Given the description of an element on the screen output the (x, y) to click on. 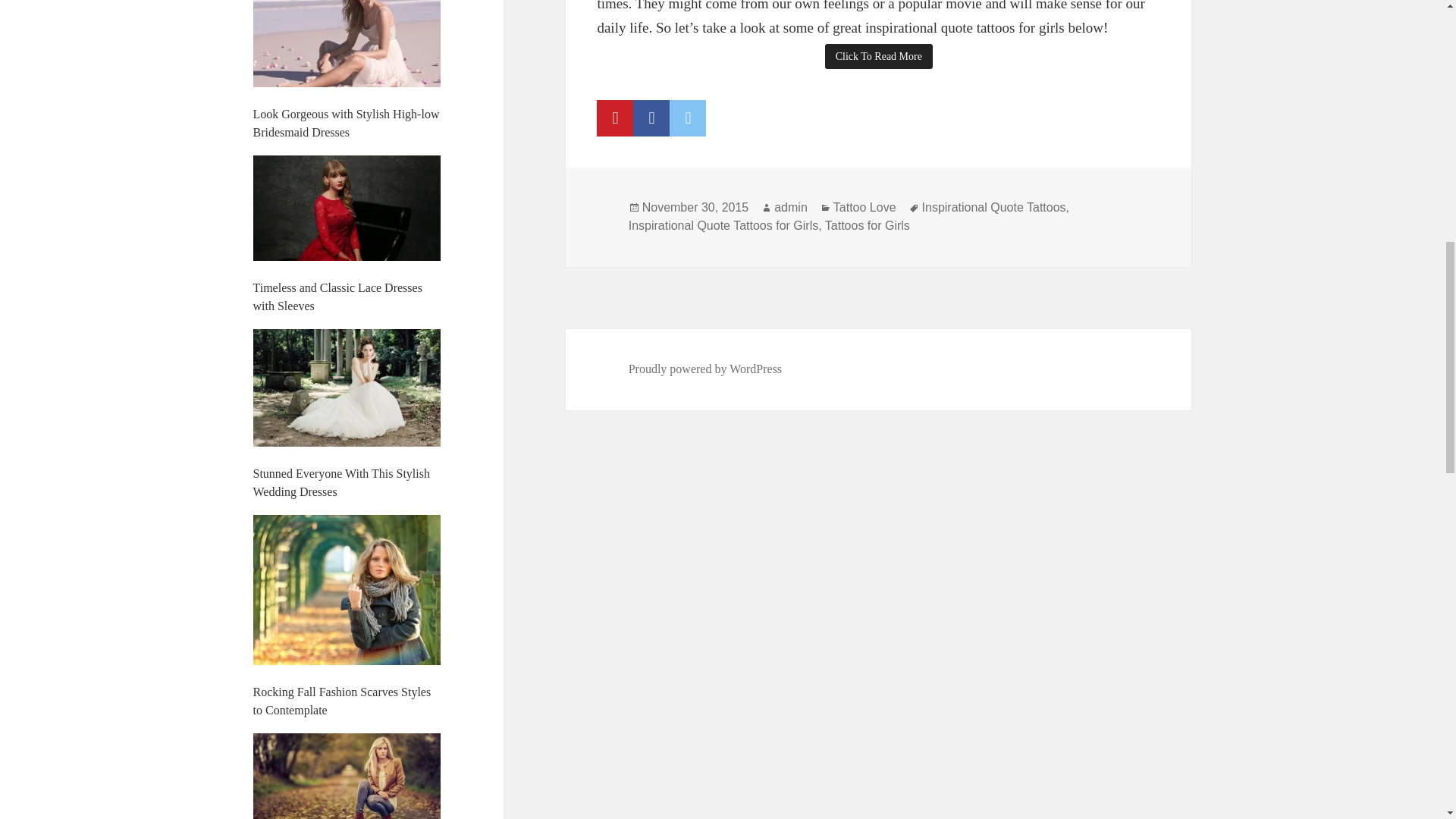
Stunned Everyone With This Stylish Wedding Dresses (341, 481)
Rocking Fall Fashion Scarves Styles to Contemplate (341, 700)
Look Gorgeous with Stylish High-low Bridesmaid Dresses (346, 122)
Timeless and Classic Lace Dresses with Sleeves (337, 296)
